Given the description of an element on the screen output the (x, y) to click on. 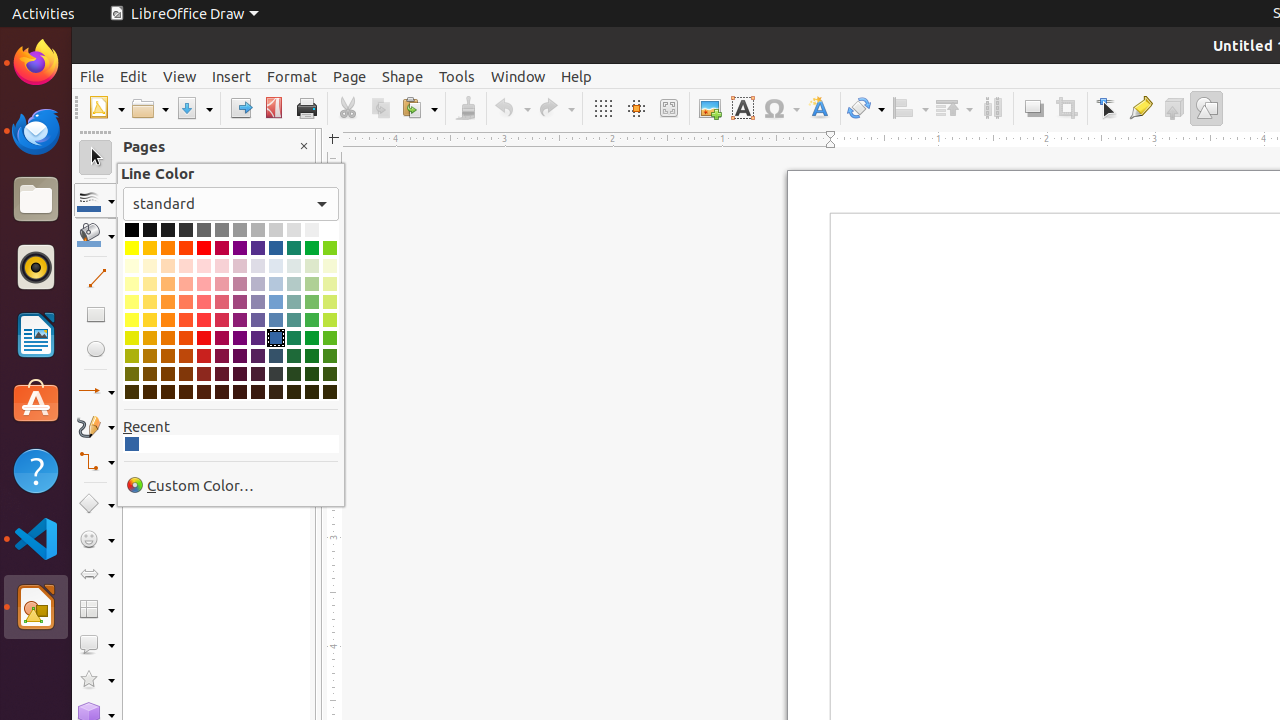
Dark Yellow 1 Element type: list-item (132, 338)
Light Purple 4 Element type: list-item (240, 266)
Arrange Element type: push-button (954, 108)
White Element type: list-item (330, 230)
